Given the description of an element on the screen output the (x, y) to click on. 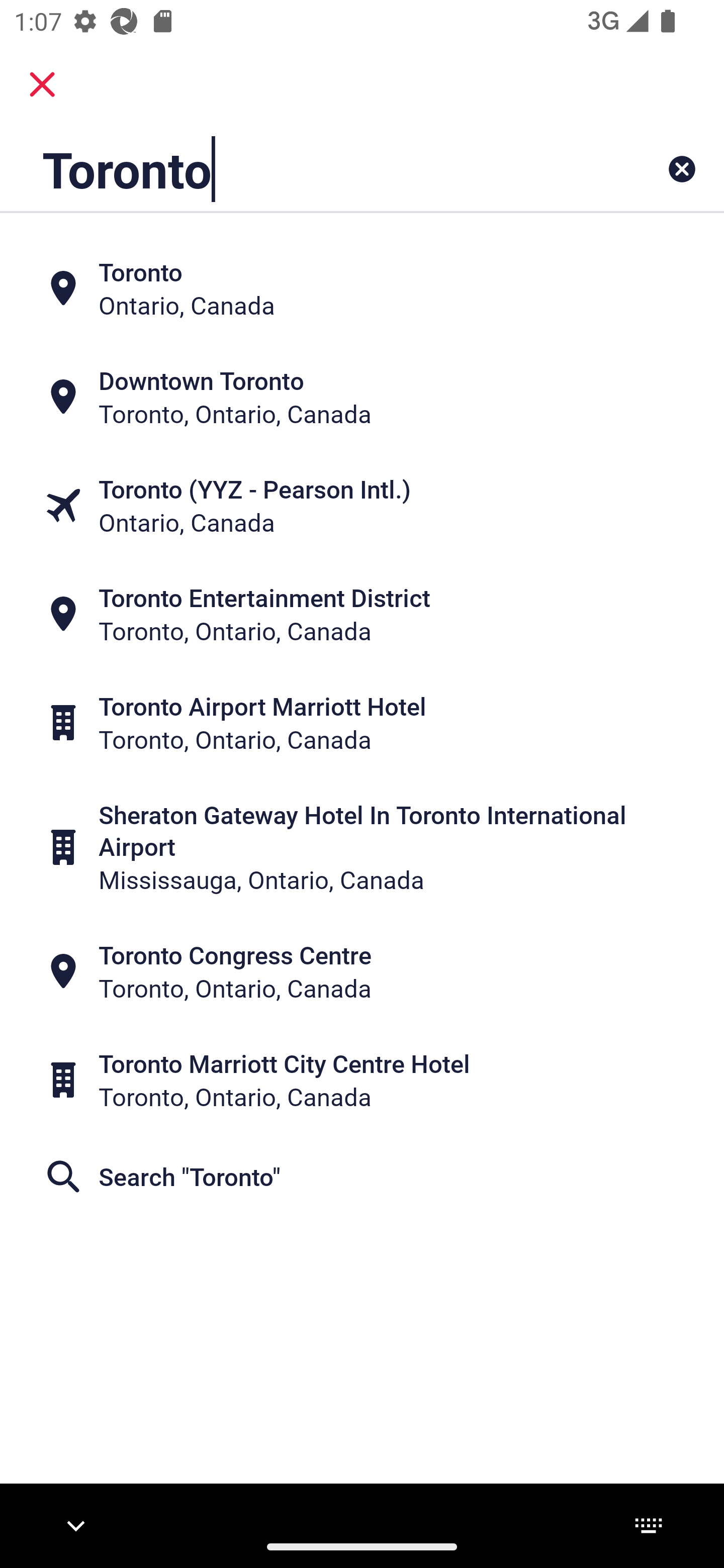
close. (42, 84)
Clear (681, 169)
Toronto (298, 169)
Toronto Ontario, Canada (362, 288)
Downtown Toronto Toronto, Ontario, Canada (362, 397)
Toronto (YYZ - Pearson Intl.) Ontario, Canada (362, 505)
Toronto Congress Centre Toronto, Ontario, Canada (362, 971)
Search "Toronto" (362, 1175)
